Given the description of an element on the screen output the (x, y) to click on. 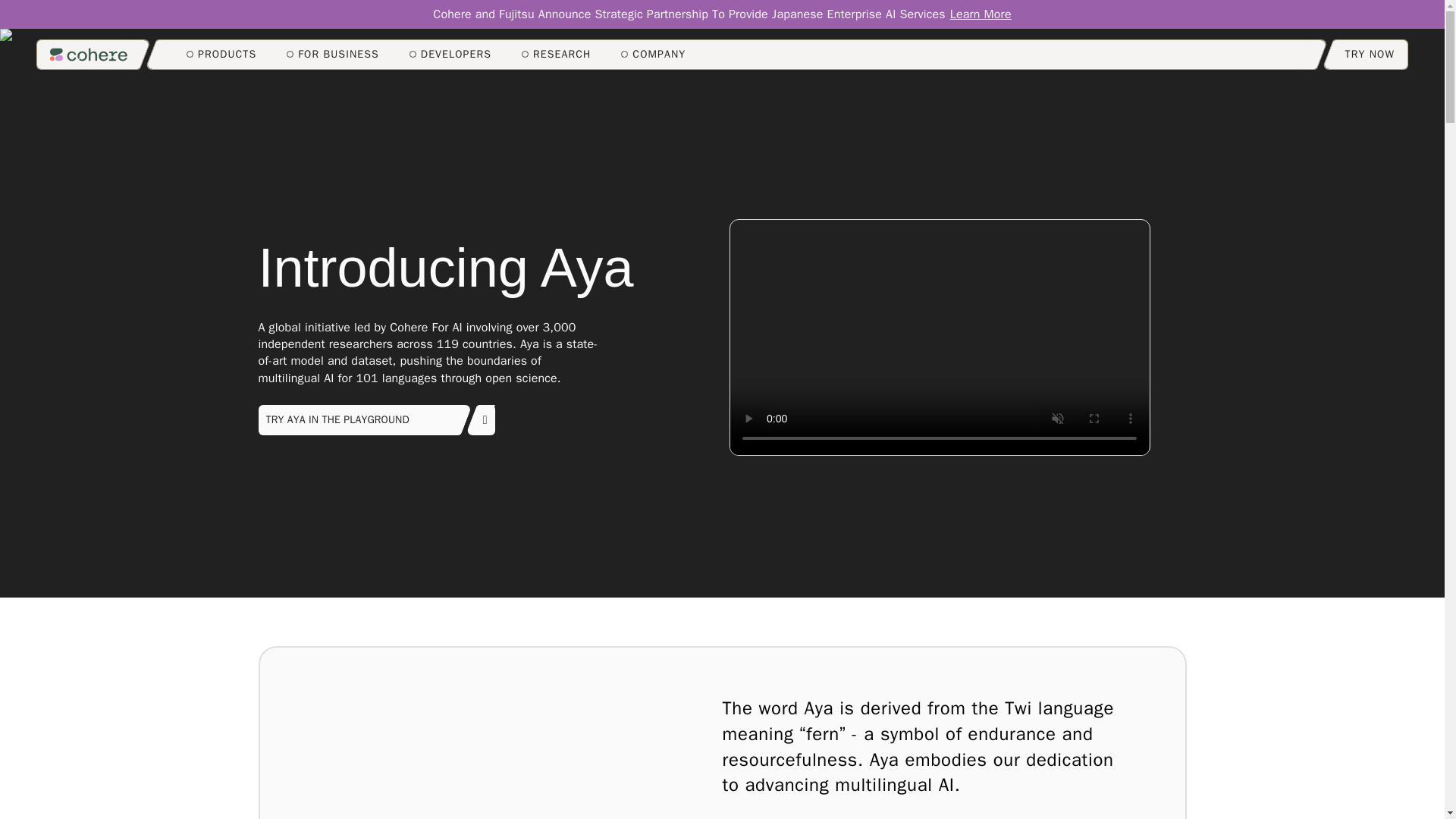
Learn More (980, 13)
FOR BUSINESS (332, 54)
COMPANY (653, 54)
RESEARCH (556, 54)
PRODUCTS (221, 54)
TRY NOW (1370, 54)
TRY AYA IN THE PLAYGROUND (376, 419)
DEVELOPERS (450, 54)
